Given the description of an element on the screen output the (x, y) to click on. 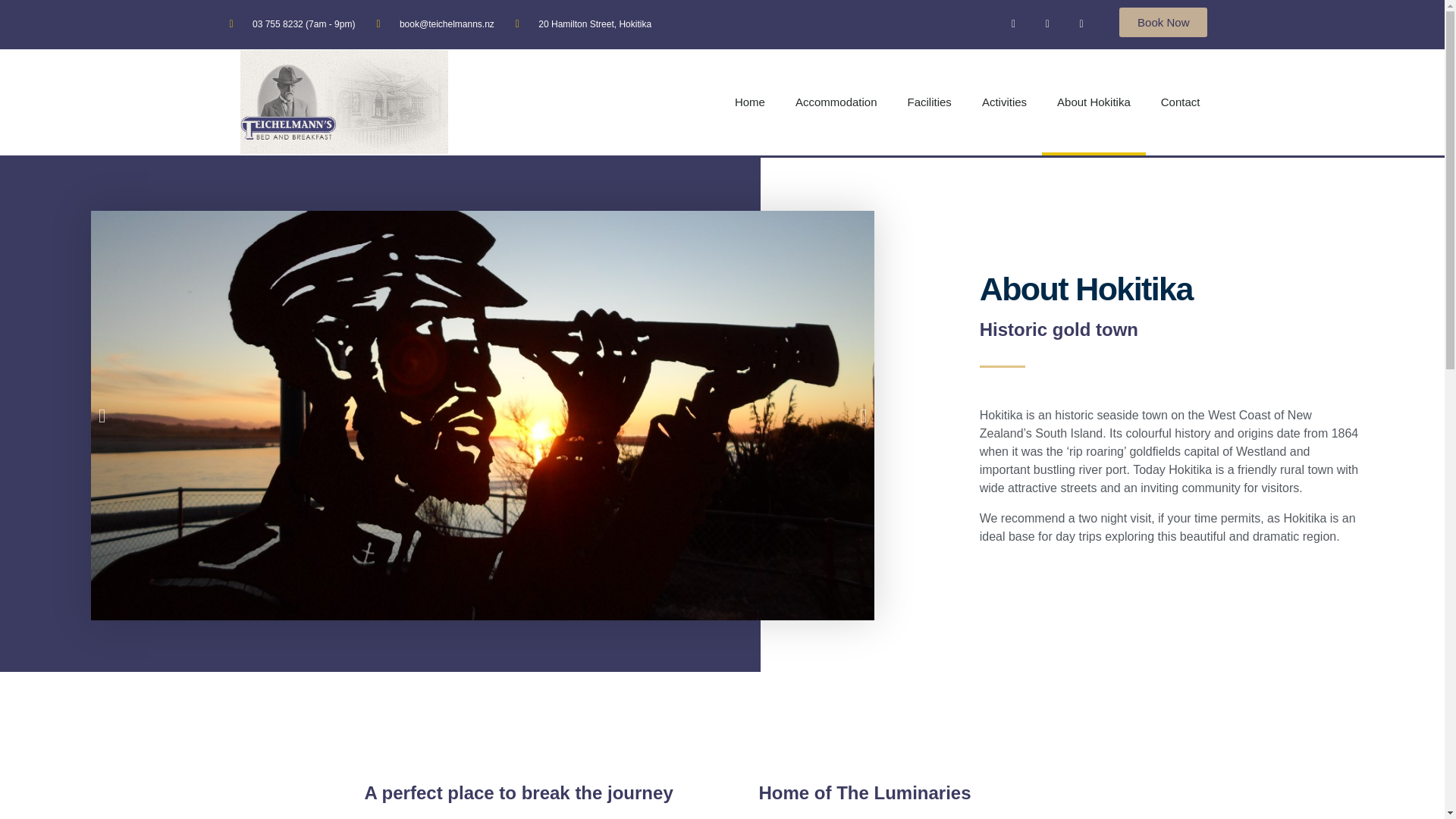
Book Now (1163, 21)
About Hokitika (1093, 102)
Accommodation (836, 102)
